Given the description of an element on the screen output the (x, y) to click on. 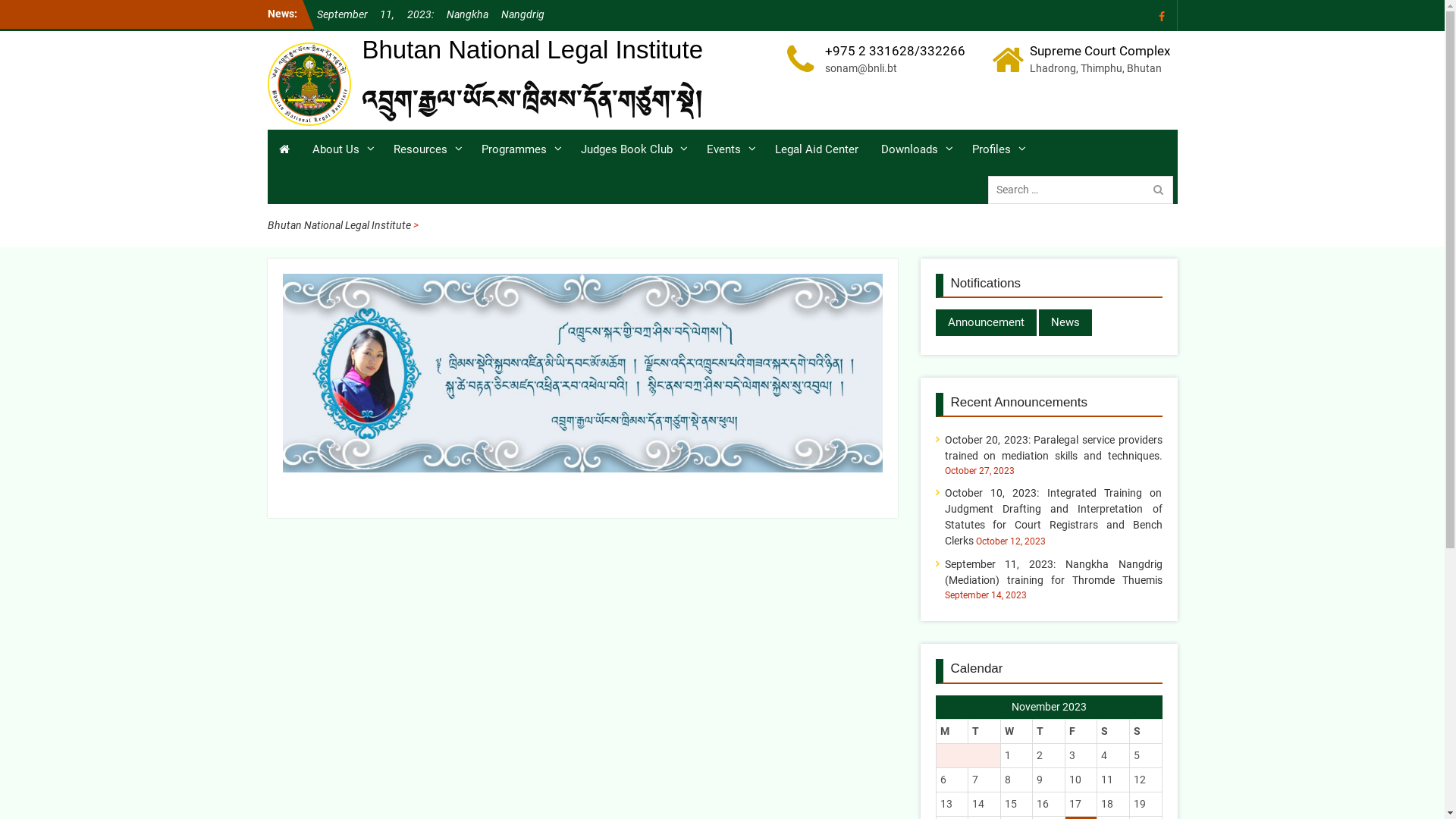
Profiles Element type: text (996, 149)
Events Element type: text (728, 149)
About Us Element type: text (340, 149)
Programmes Element type: text (519, 149)
Downloads Element type: text (914, 149)
Judges Book Club Element type: text (631, 149)
Bhutan National Legal Institute Element type: text (338, 224)
Resources Element type: text (426, 149)
News Element type: text (1065, 322)
Facebook Element type: text (1161, 15)
Announcement Element type: text (985, 322)
+975 2 331628/332266 Element type: text (894, 51)
Skip to content Element type: text (0, 0)
Bhutan National Legal Institute Element type: text (532, 49)
Legal Aid Center Element type: text (815, 149)
sonam@bnli.bt Element type: text (894, 68)
